Given the description of an element on the screen output the (x, y) to click on. 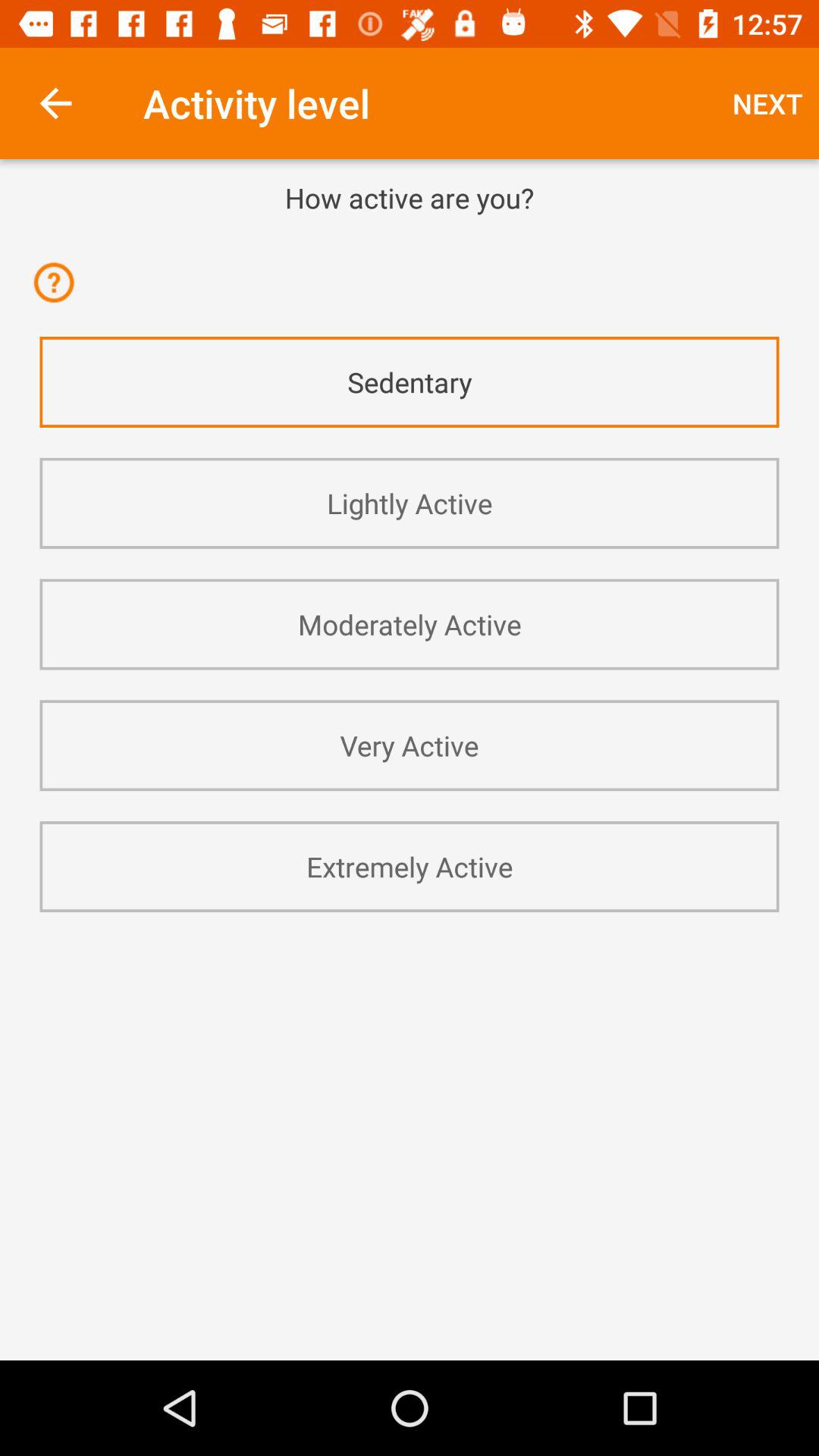
turn off sedentary (409, 381)
